Given the description of an element on the screen output the (x, y) to click on. 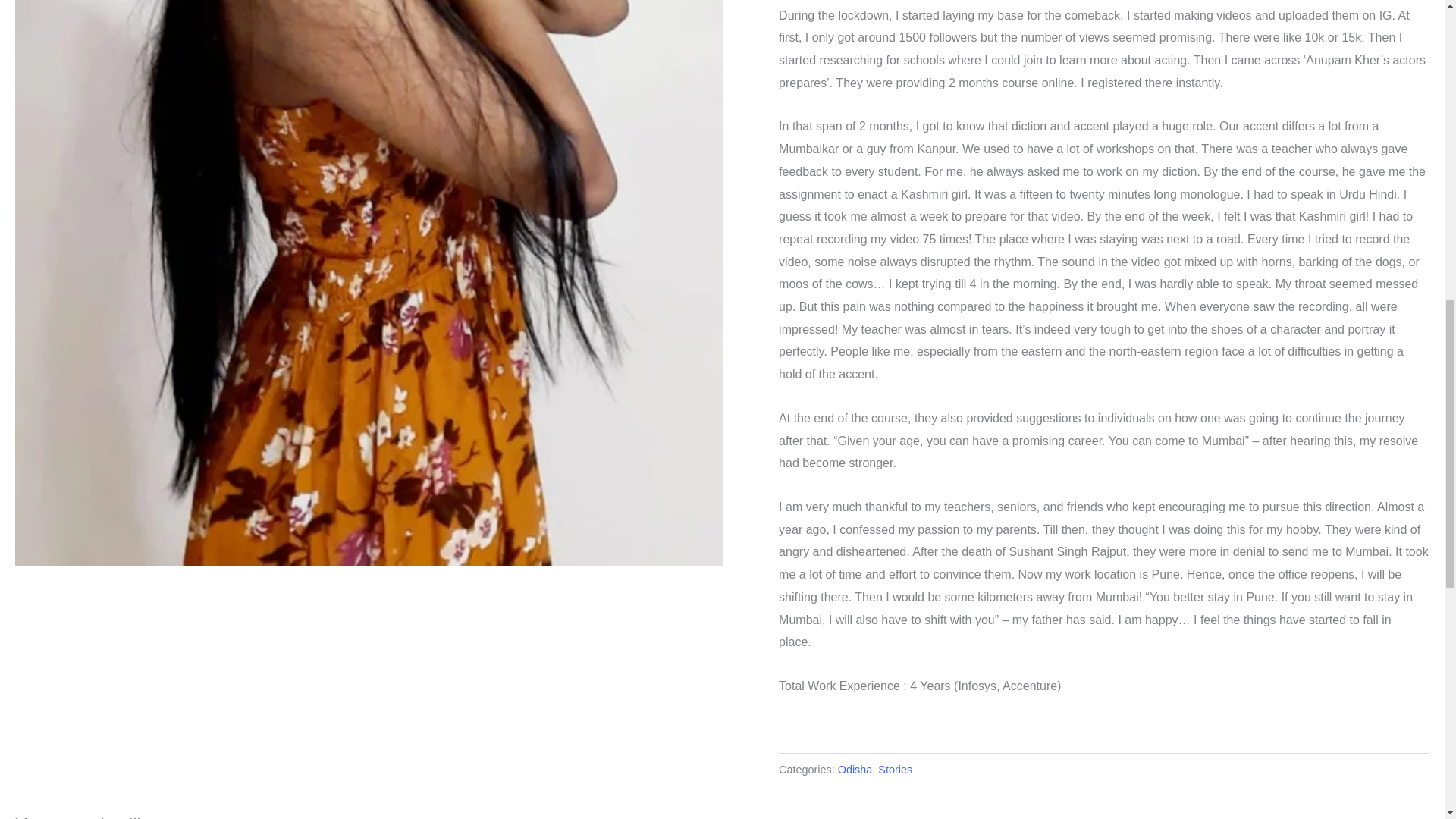
Stories (894, 769)
Odisha (855, 769)
